Given the description of an element on the screen output the (x, y) to click on. 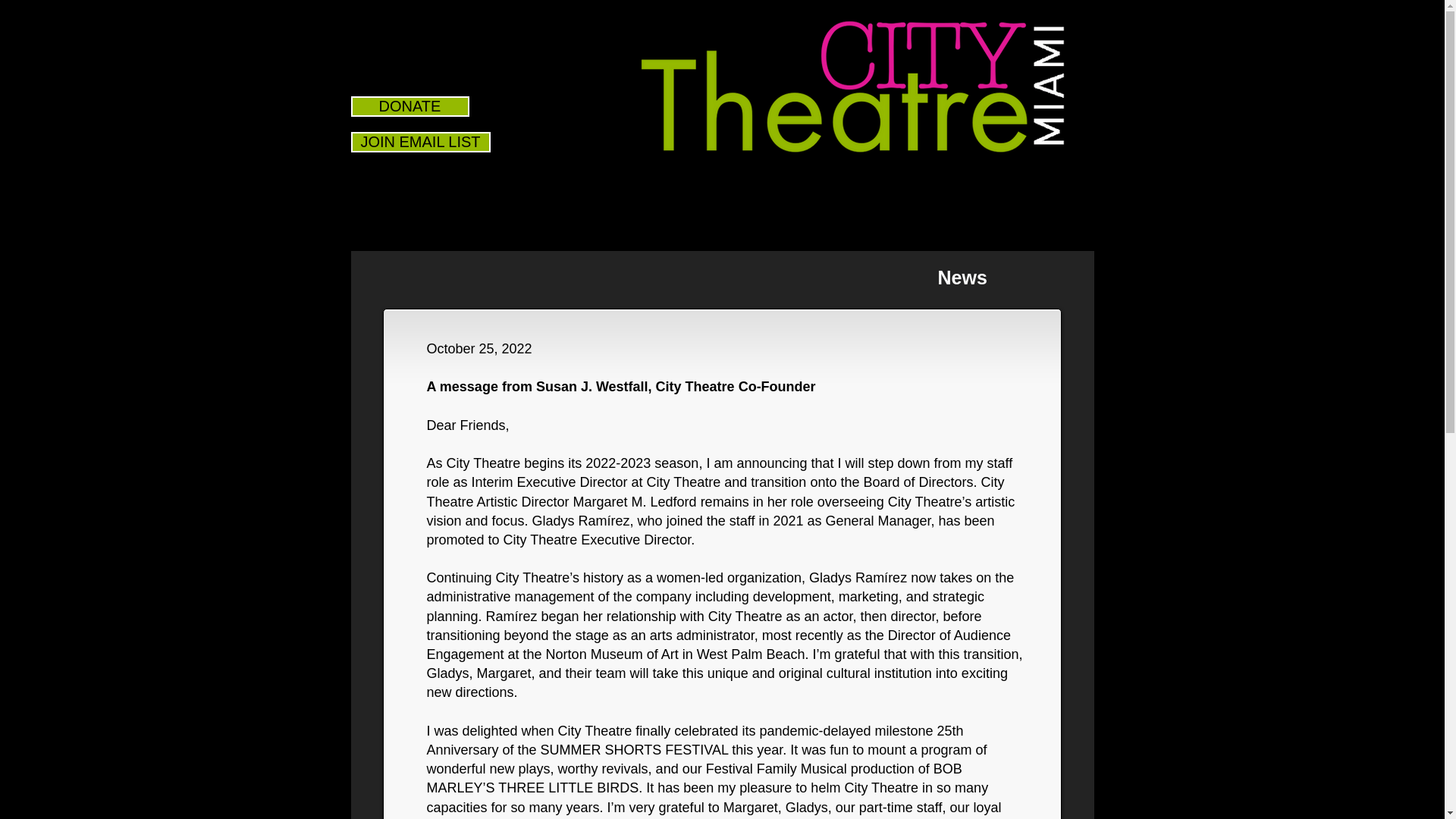
DONATE (409, 106)
JOIN EMAIL LIST (419, 141)
